Given the description of an element on the screen output the (x, y) to click on. 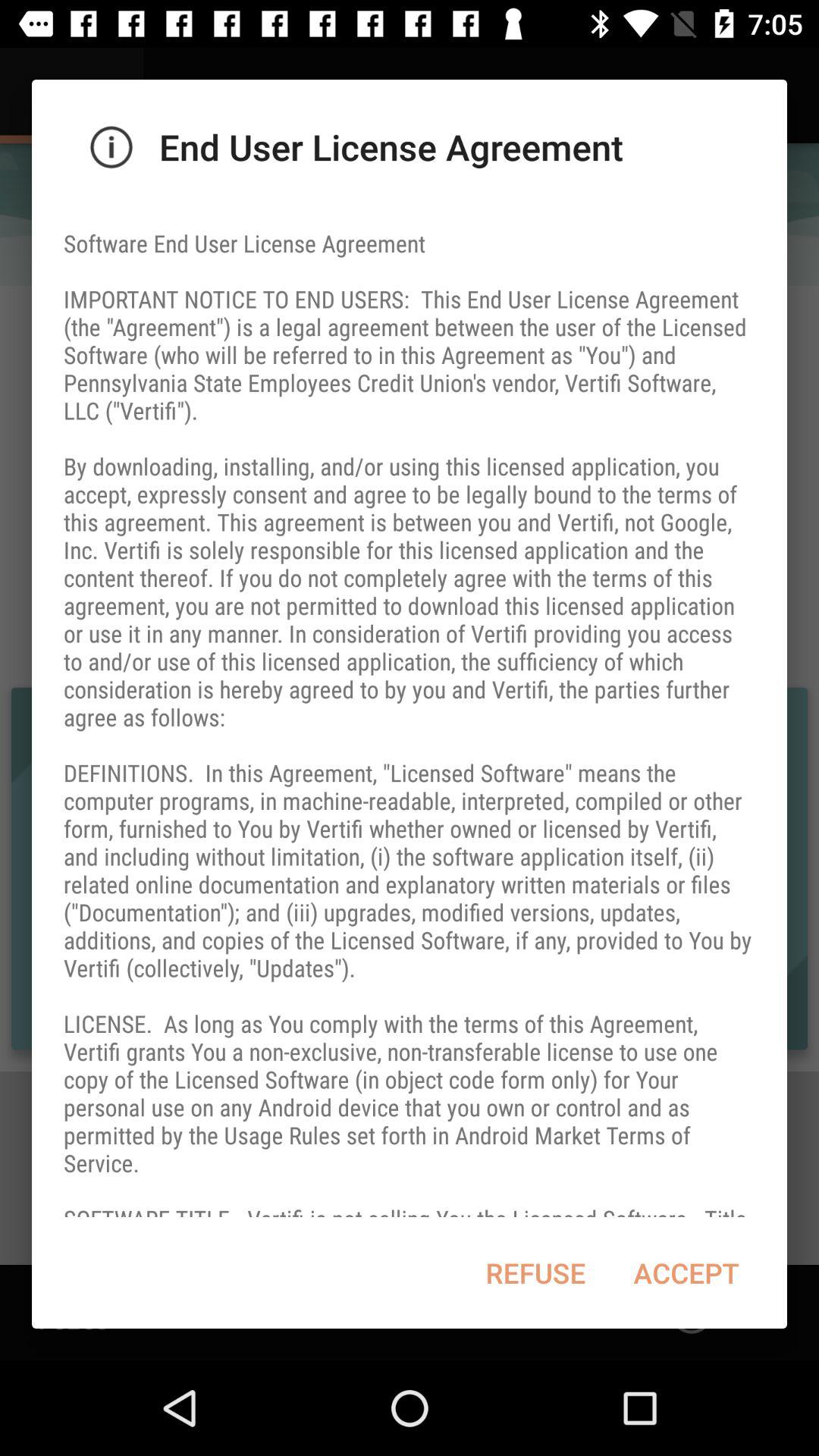
select the accept item (686, 1272)
